Given the description of an element on the screen output the (x, y) to click on. 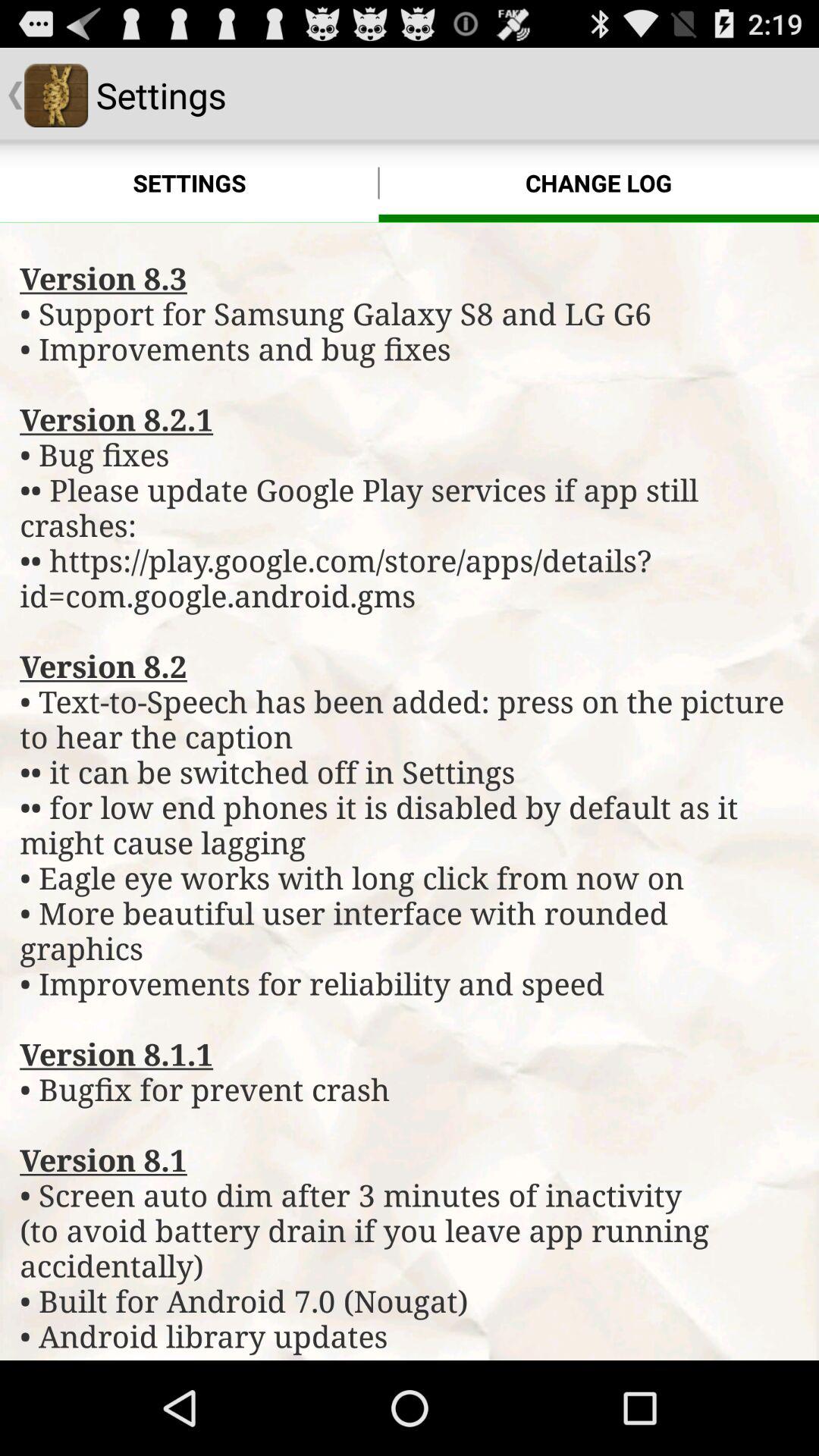
select change log item (598, 182)
